Given the description of an element on the screen output the (x, y) to click on. 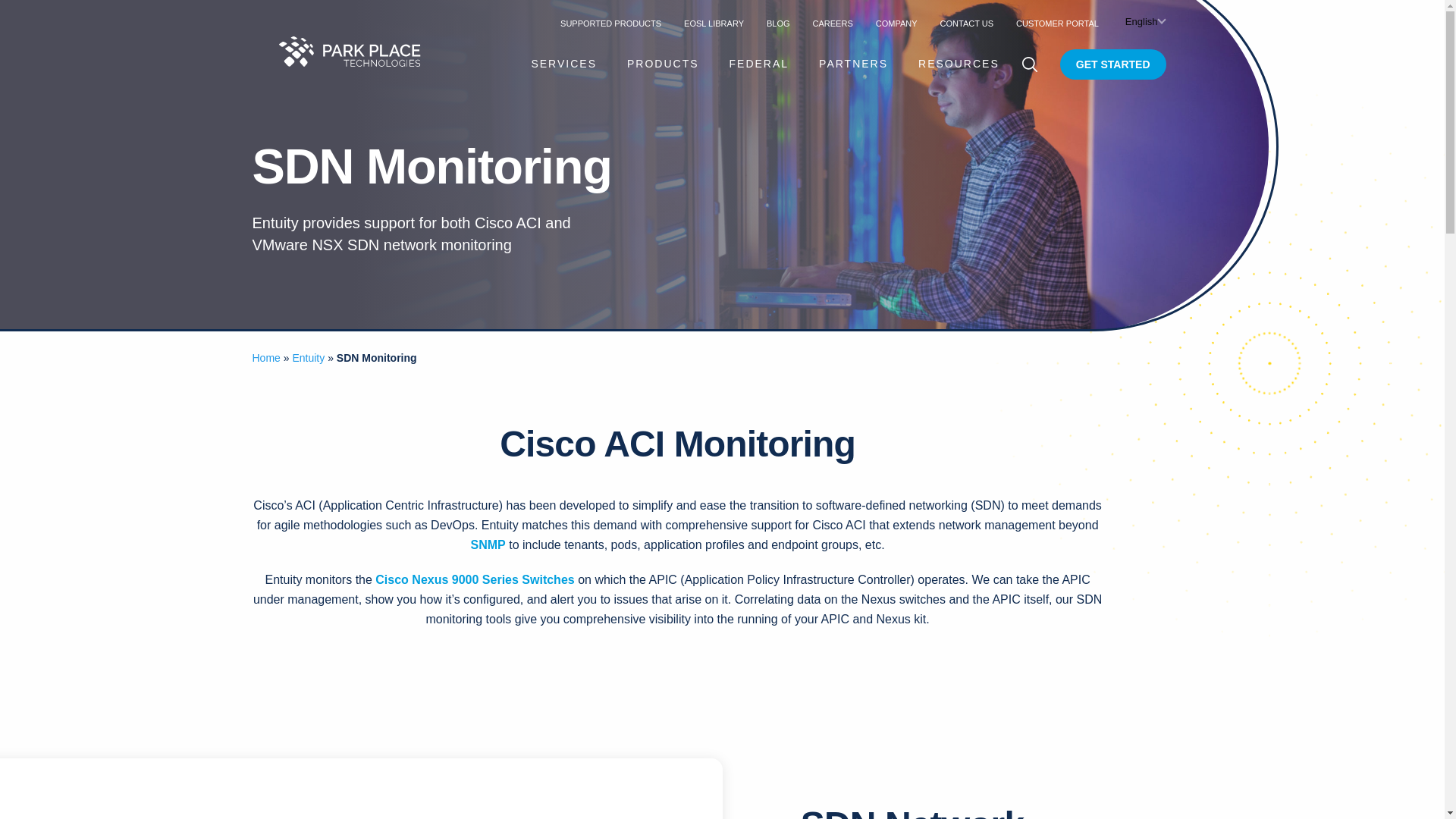
SUPPORTED PRODUCTS (610, 22)
SERVICES (563, 63)
COMPANY (896, 22)
CUSTOMER PORTAL (1057, 22)
EOSL LIBRARY (714, 22)
CAREERS (832, 22)
BLOG (778, 22)
CONTACT US (967, 22)
